Given the description of an element on the screen output the (x, y) to click on. 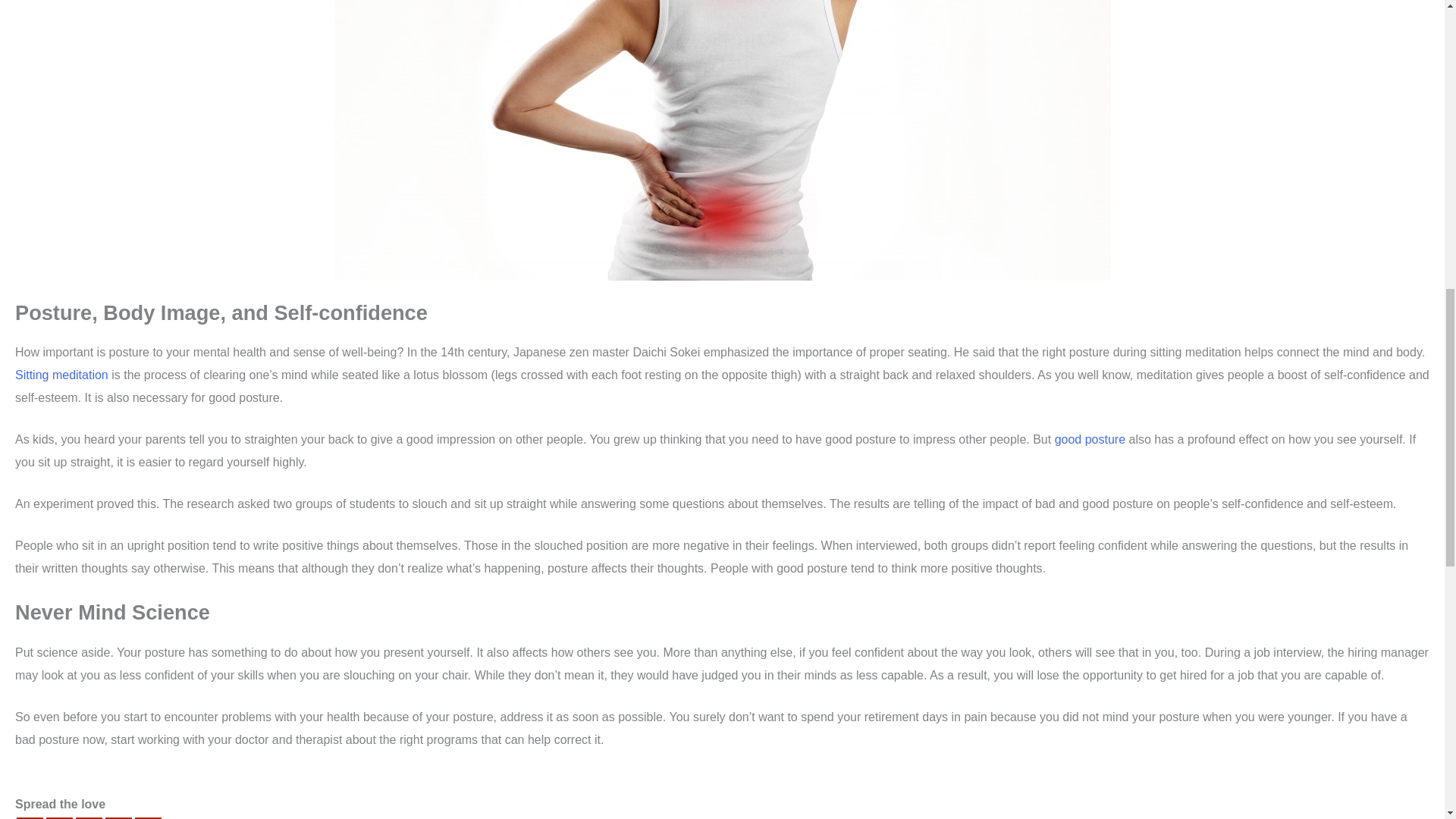
More (148, 818)
Sitting meditation (60, 374)
Pinterest (118, 818)
good posture (1089, 439)
Reddit (88, 818)
Twitter (59, 818)
Facebook (29, 818)
